Given the description of an element on the screen output the (x, y) to click on. 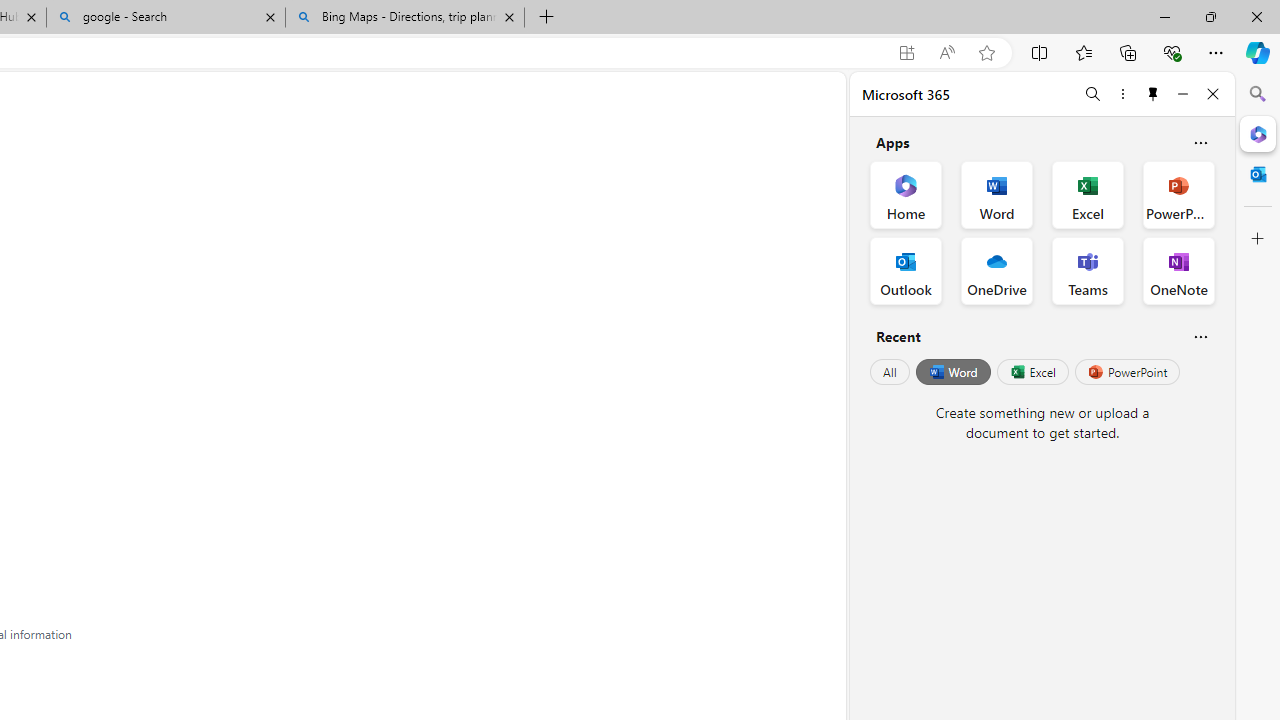
Customize (1258, 239)
App available. Install GitHub (906, 53)
OneDrive Office App (996, 270)
Outlook (1258, 174)
Excel (1031, 372)
